Given the description of an element on the screen output the (x, y) to click on. 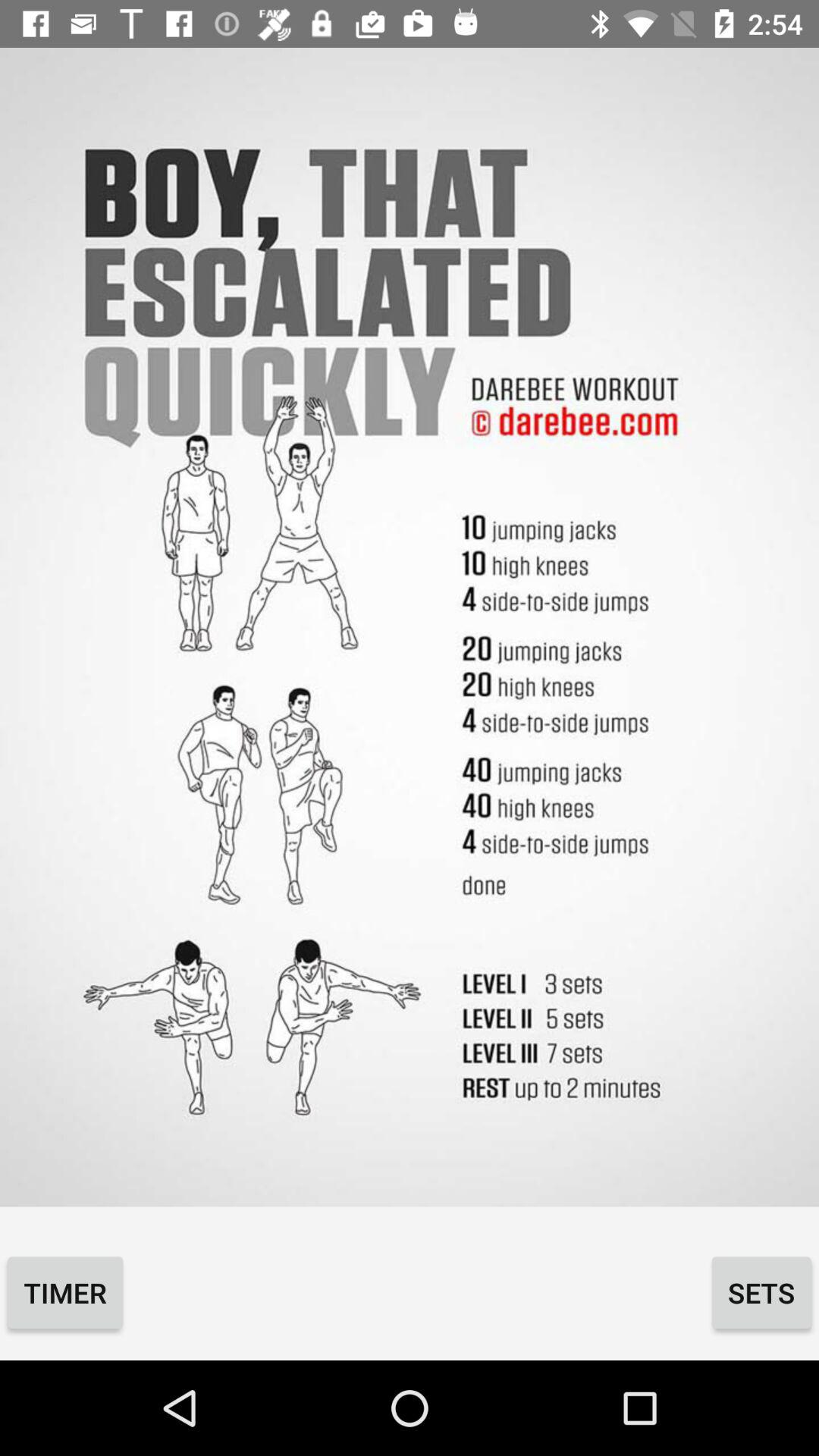
select the icon next to timer (761, 1292)
